Given the description of an element on the screen output the (x, y) to click on. 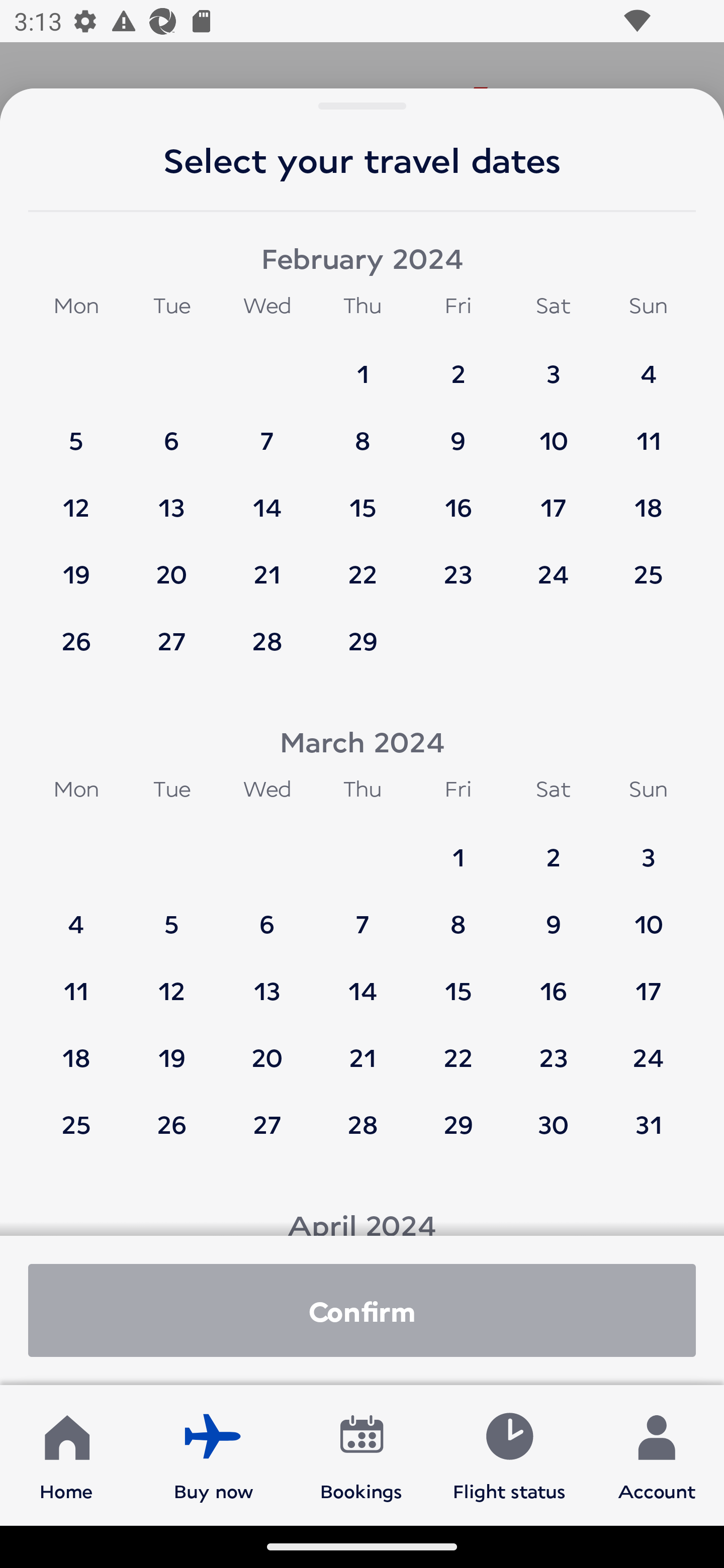
1 (362, 364)
2 (458, 364)
3 (553, 364)
4 (647, 364)
5 (75, 431)
6 (171, 431)
7 (266, 431)
8 (362, 431)
9 (458, 431)
10 (553, 431)
11 (647, 431)
12 (75, 497)
13 (171, 497)
14 (266, 497)
15 (362, 497)
16 (458, 497)
17 (553, 497)
18 (647, 497)
19 (75, 564)
20 (171, 564)
21 (266, 564)
22 (362, 564)
23 (458, 564)
24 (553, 564)
25 (647, 564)
26 (75, 640)
27 (171, 640)
28 (266, 640)
29 (362, 640)
1 (458, 848)
2 (553, 848)
3 (647, 848)
4 (75, 914)
5 (171, 914)
6 (266, 914)
7 (362, 914)
8 (458, 914)
9 (553, 914)
10 (647, 914)
11 (75, 981)
12 (171, 981)
13 (266, 981)
14 (362, 981)
15 (458, 981)
16 (553, 981)
17 (647, 981)
18 (75, 1047)
19 (171, 1047)
20 (266, 1047)
21 (362, 1047)
22 (458, 1047)
23 (553, 1047)
24 (647, 1047)
25 (75, 1123)
26 (171, 1123)
27 (266, 1123)
28 (362, 1123)
29 (458, 1123)
30 (553, 1123)
31 (647, 1123)
Confirm (361, 1309)
Home (66, 1454)
Bookings (361, 1454)
Flight status (509, 1454)
Account (657, 1454)
